Given the description of an element on the screen output the (x, y) to click on. 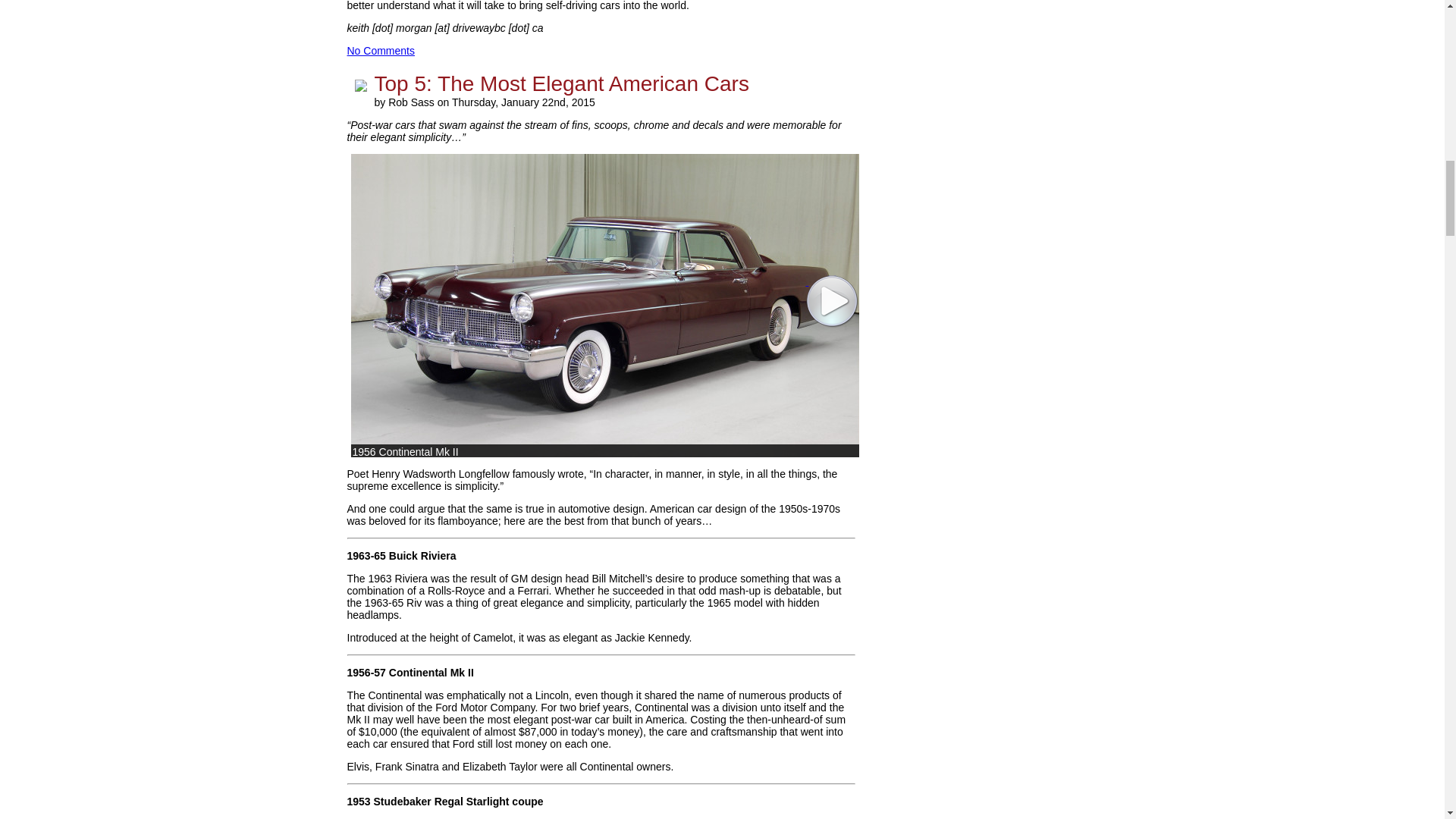
Top 5: The Most Elegant American Cars (561, 83)
